Given the description of an element on the screen output the (x, y) to click on. 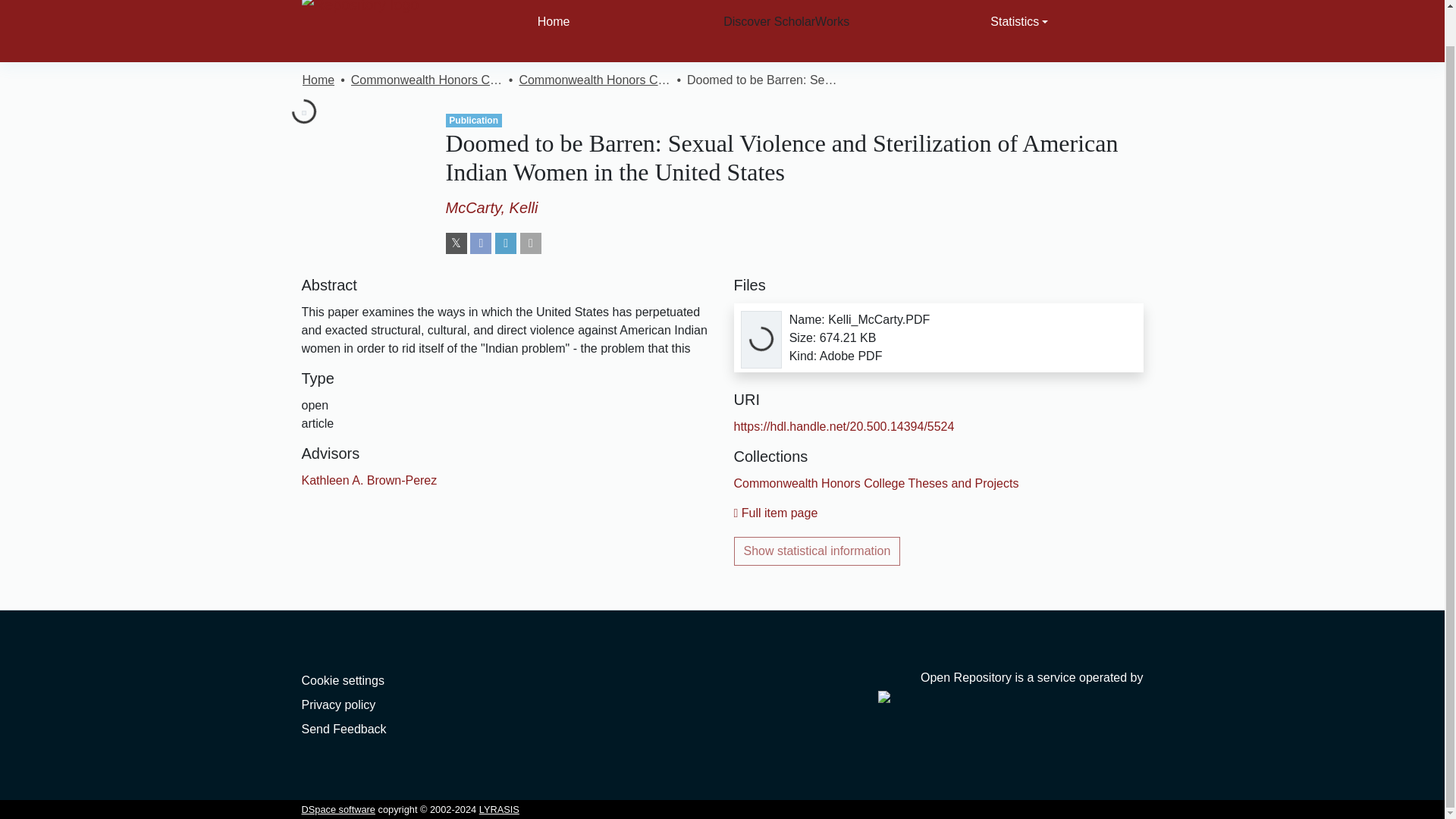
Home (317, 80)
Commonwealth Honors College (426, 80)
Privacy policy (338, 704)
DSpace software (338, 808)
Open Repository is a service operated by (1009, 686)
Send Feedback (344, 728)
LYRASIS (499, 808)
McCarty, Kelli (491, 207)
Home (552, 31)
Kathleen A. Brown-Perez (369, 480)
Full item page (775, 512)
Commonwealth Honors College Theses and Projects (593, 80)
Show statistical information (817, 551)
Cookie settings (342, 680)
Statistics (1018, 31)
